Given the description of an element on the screen output the (x, y) to click on. 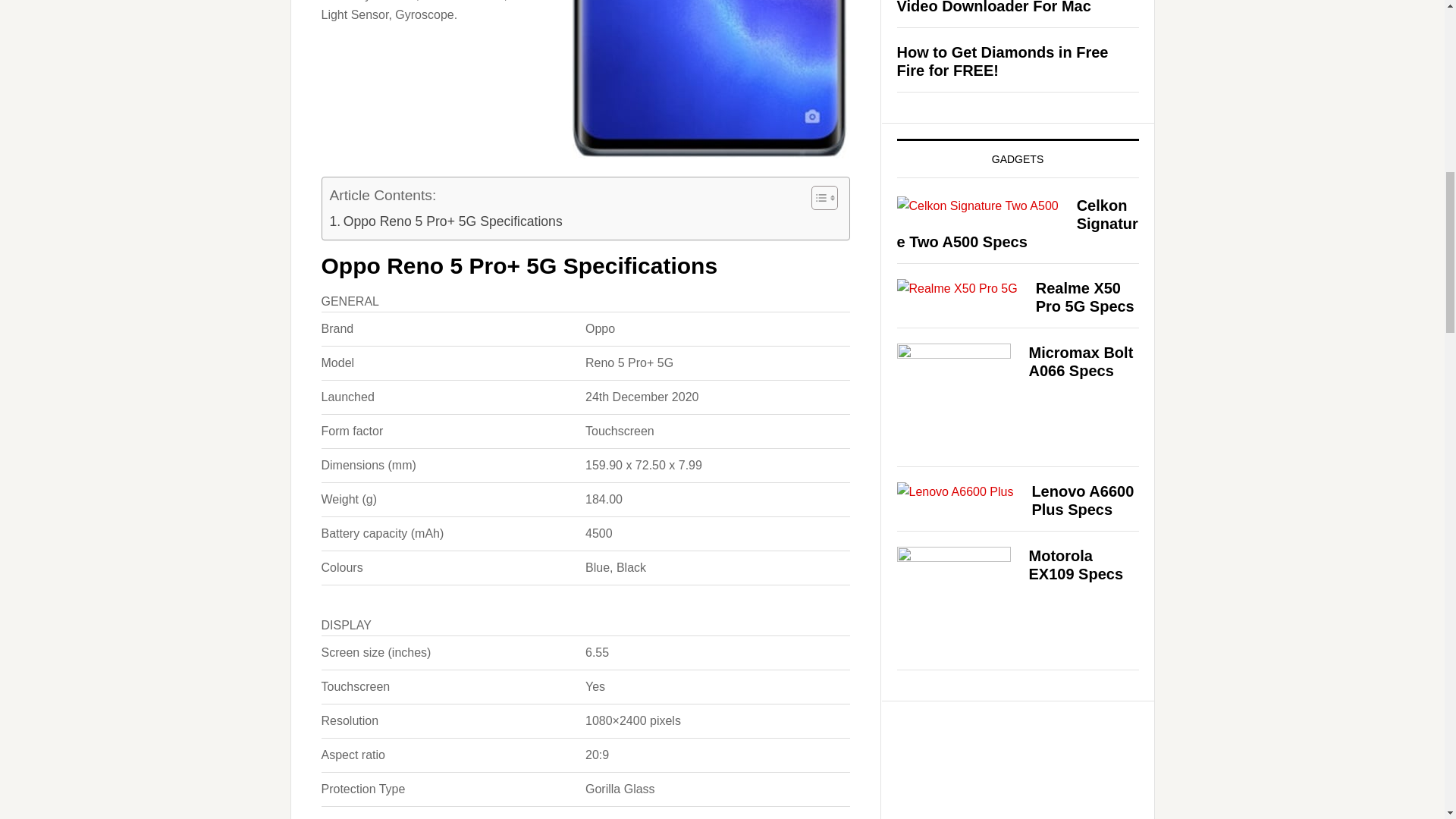
How to Get Diamonds in Free Fire for FREE! (1002, 61)
Realme X50 Pro 5G Specs (1084, 297)
Celkon Signature Two A500 Specs (1016, 223)
VideoDuke Review: An Ultimate Video Downloader For Mac (1010, 7)
Micromax Bolt A066 Specs (1079, 361)
